Given the description of an element on the screen output the (x, y) to click on. 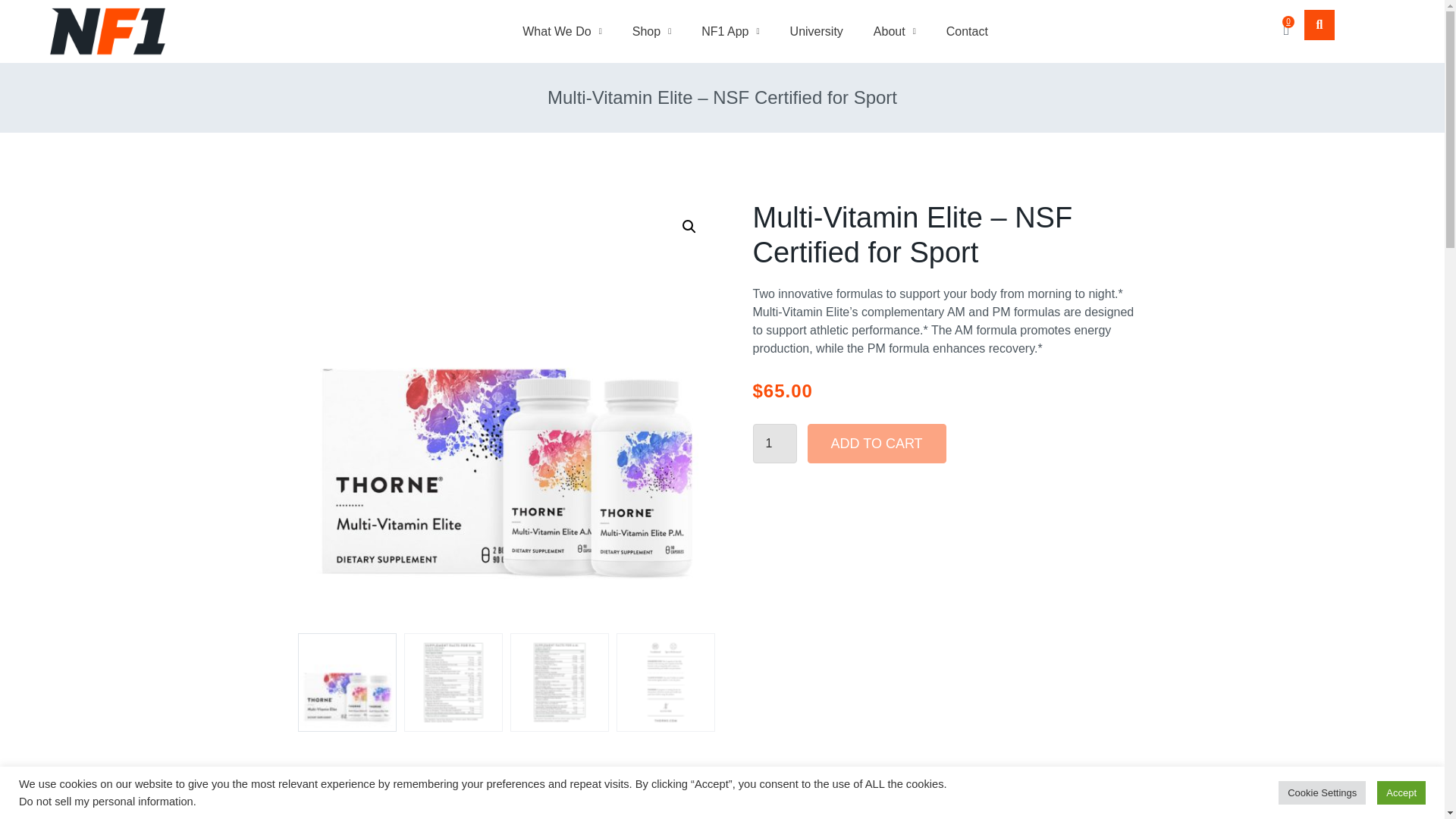
About (895, 30)
Contact (967, 30)
Shop (651, 30)
NF1 App (729, 30)
1 (774, 443)
University (816, 30)
What We Do (561, 30)
